Given the description of an element on the screen output the (x, y) to click on. 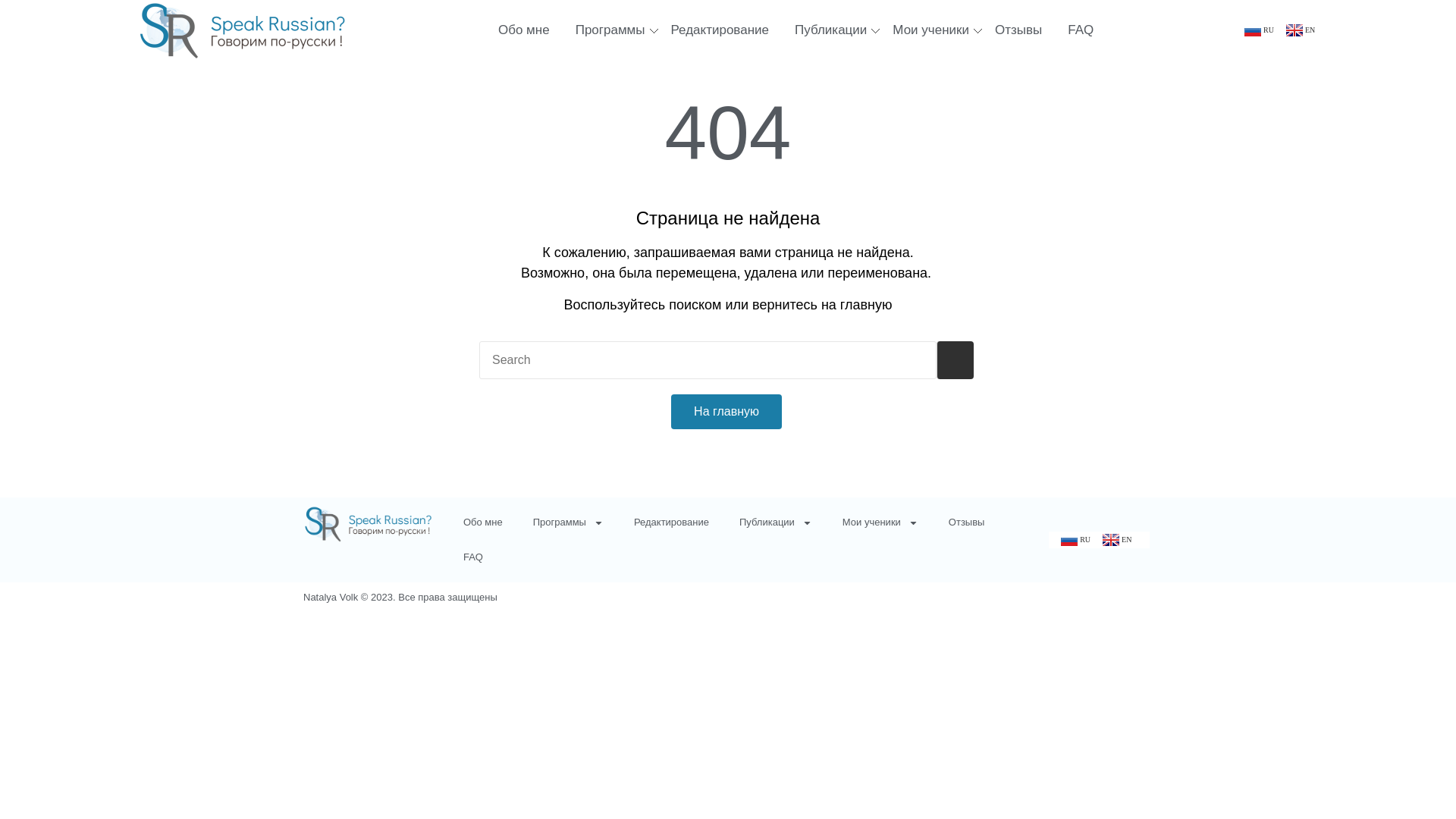
11_logo_full_for_white_tr-min Element type: hover (242, 30)
FAQ Element type: text (1080, 29)
Search for: Element type: hover (707, 360)
EN Element type: text (1116, 539)
RU Element type: text (1072, 539)
EN Element type: text (1300, 30)
RU Element type: text (1256, 30)
FAQ Element type: text (473, 556)
